Given the description of an element on the screen output the (x, y) to click on. 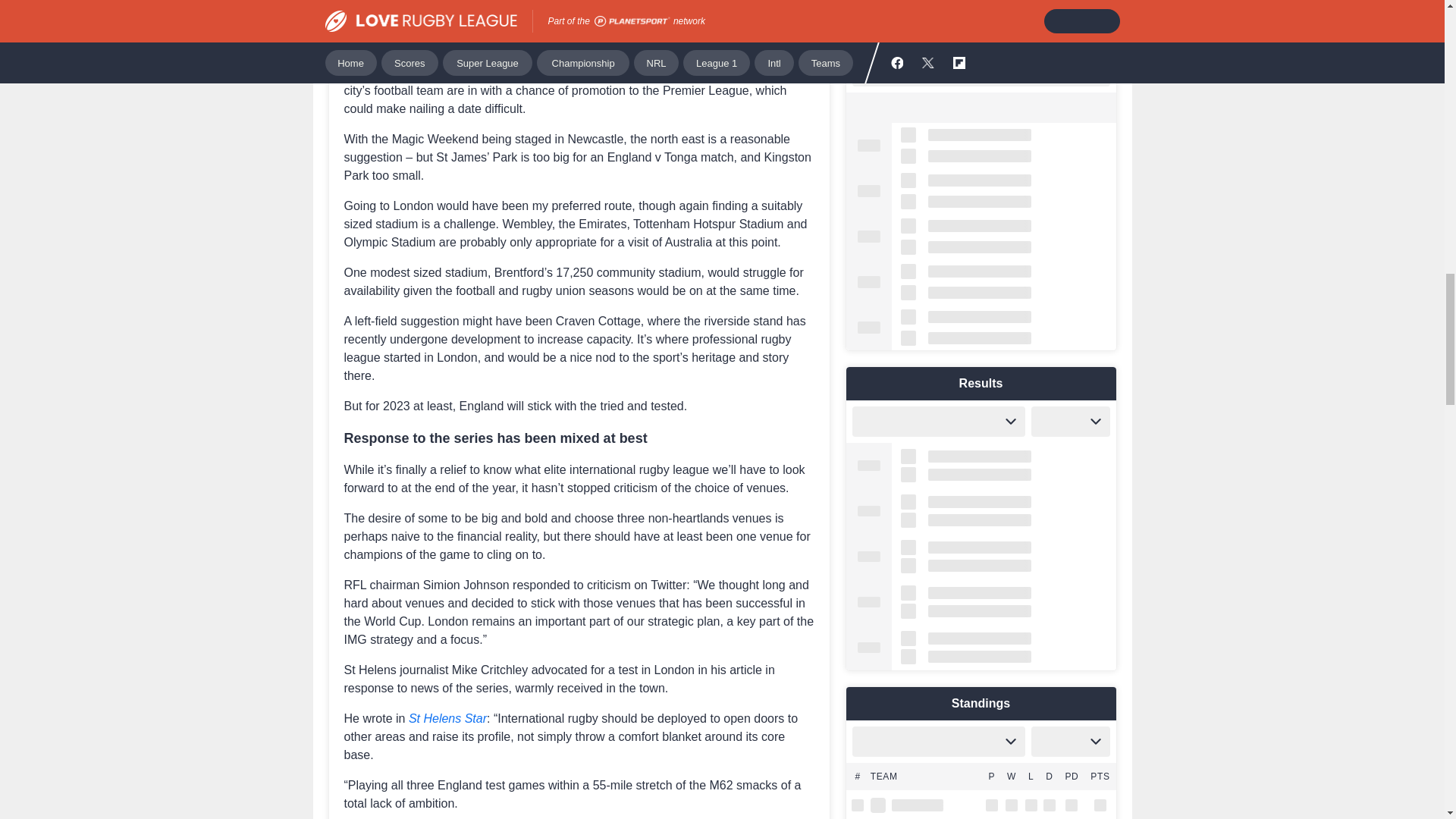
St Helens Star (447, 717)
